Given the description of an element on the screen output the (x, y) to click on. 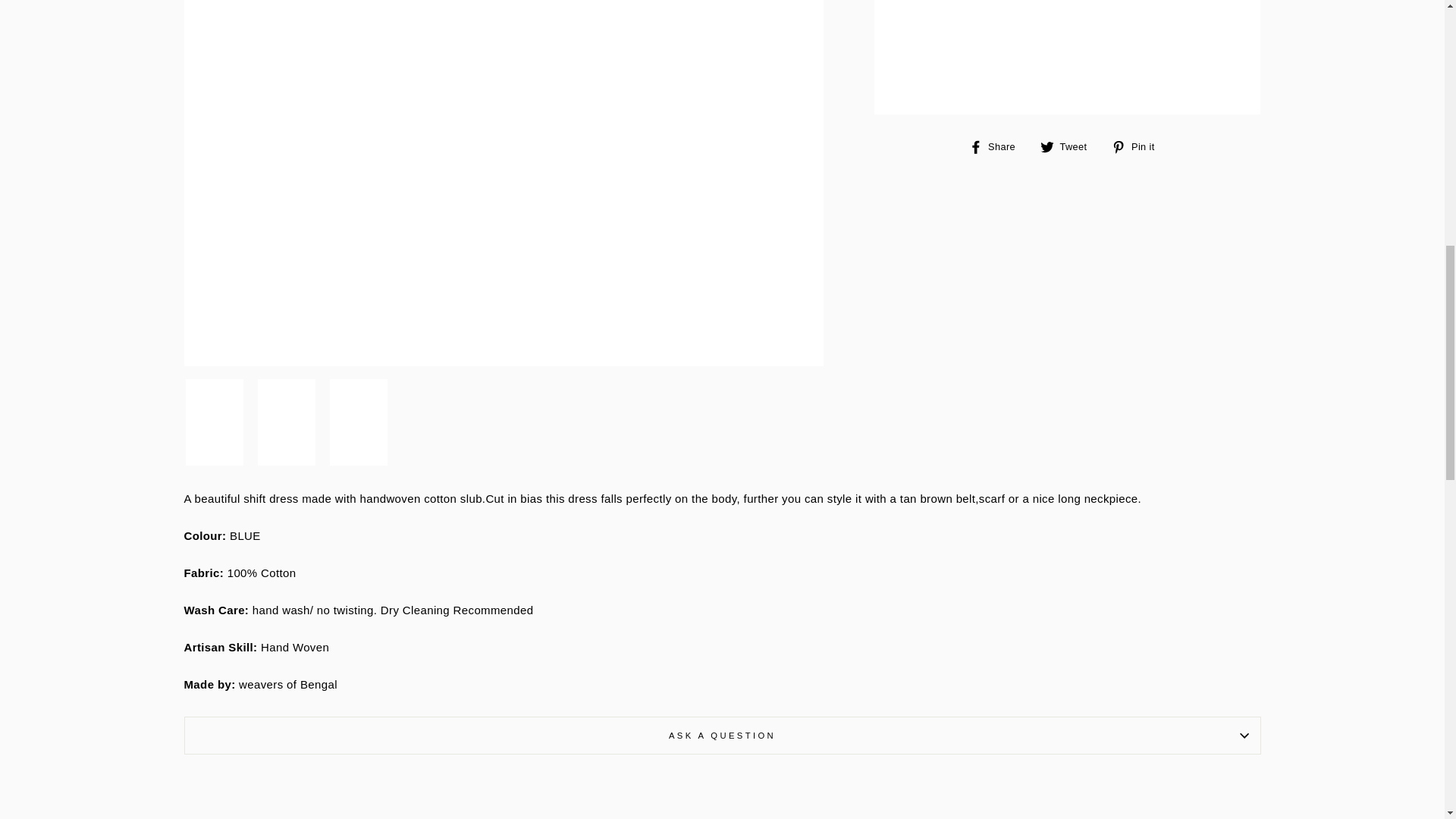
Pin on Pinterest (1139, 146)
Tweet on Twitter (1069, 146)
Share on Facebook (997, 146)
